Given the description of an element on the screen output the (x, y) to click on. 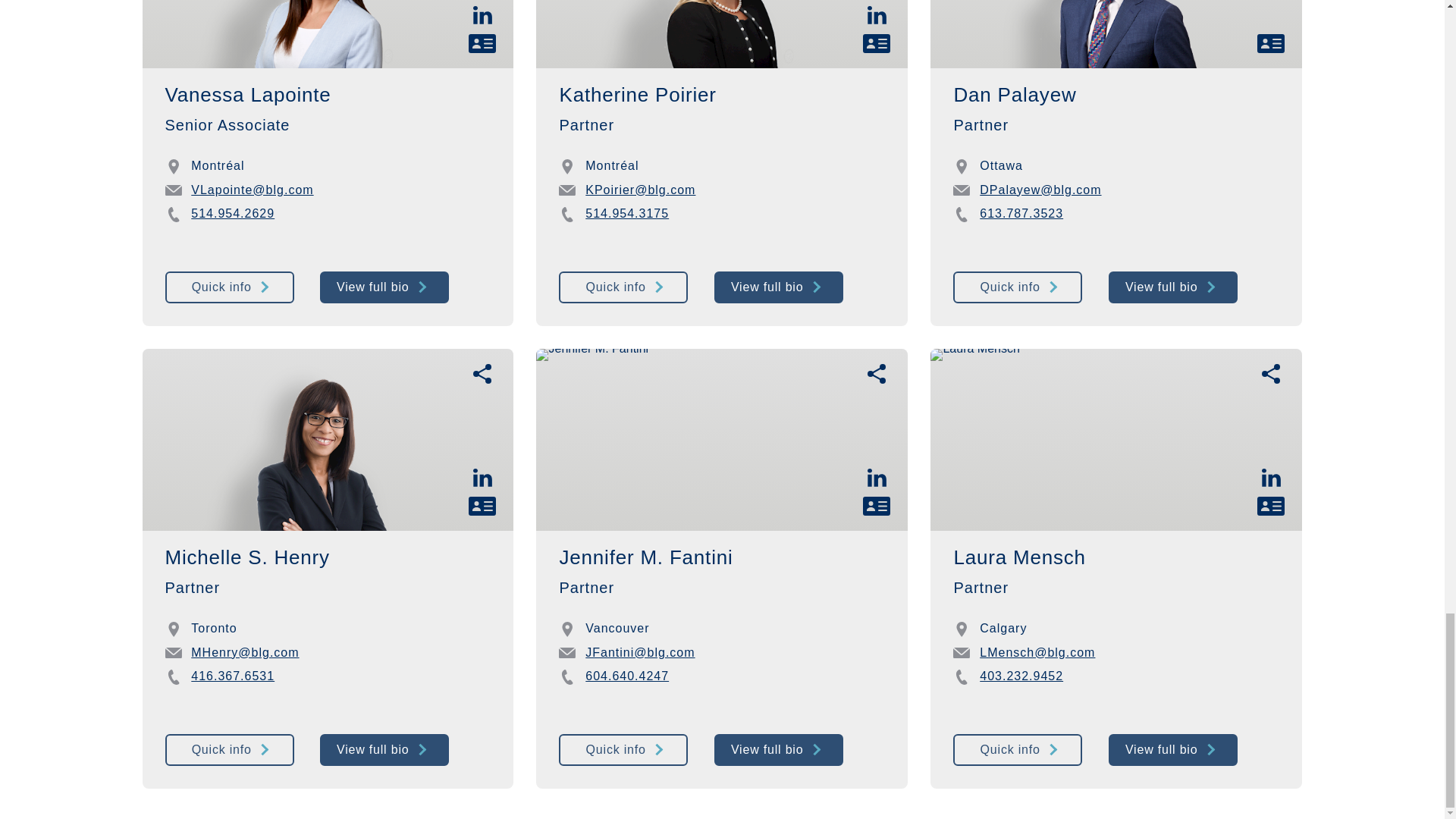
LinkedIn (1271, 477)
LinkedIn (876, 14)
LinkedIn (482, 14)
LinkedIn (876, 477)
LinkedIn (482, 477)
